Given the description of an element on the screen output the (x, y) to click on. 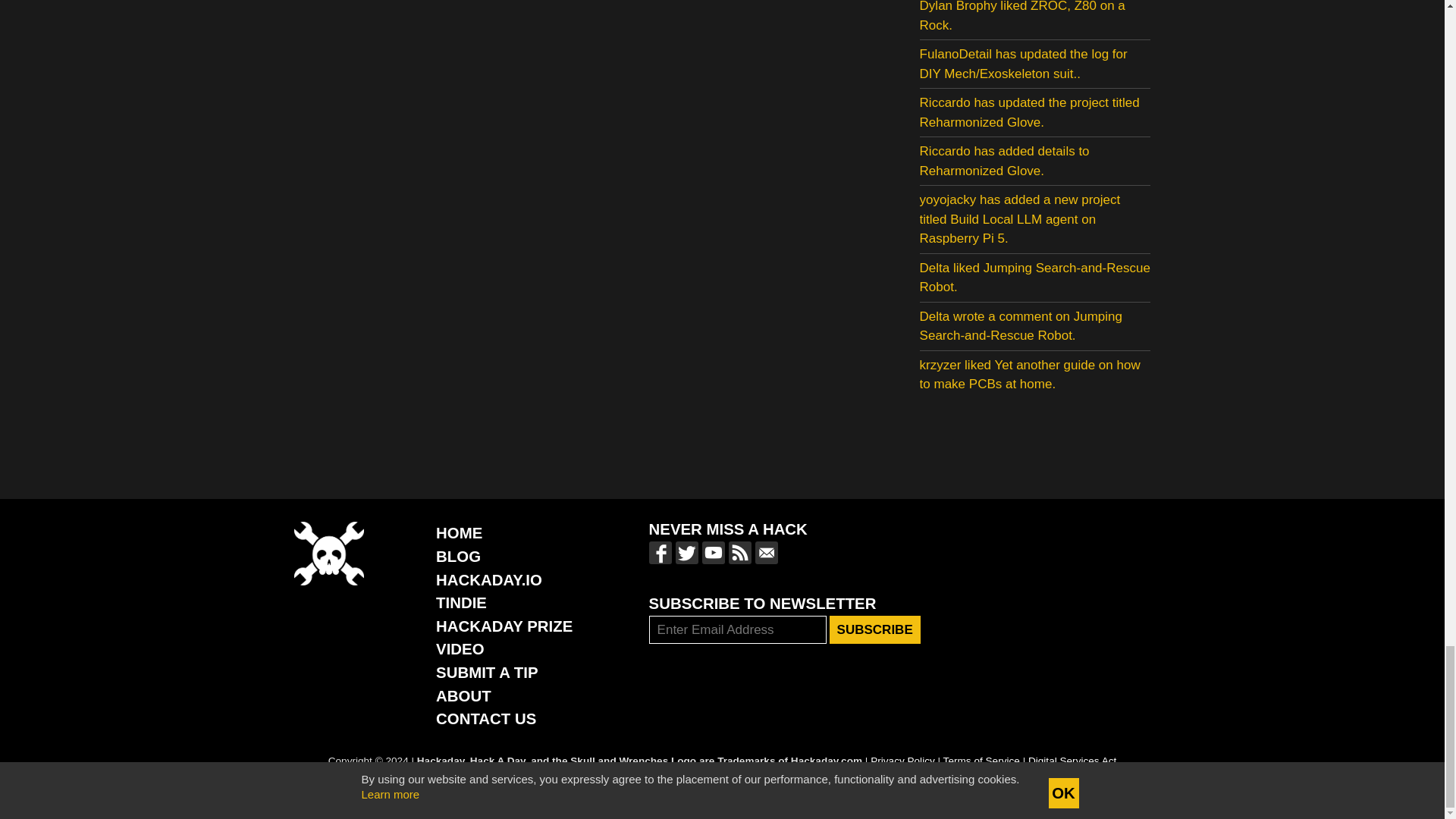
Subscribe (874, 629)
Build Something that Matters (503, 626)
